Given the description of an element on the screen output the (x, y) to click on. 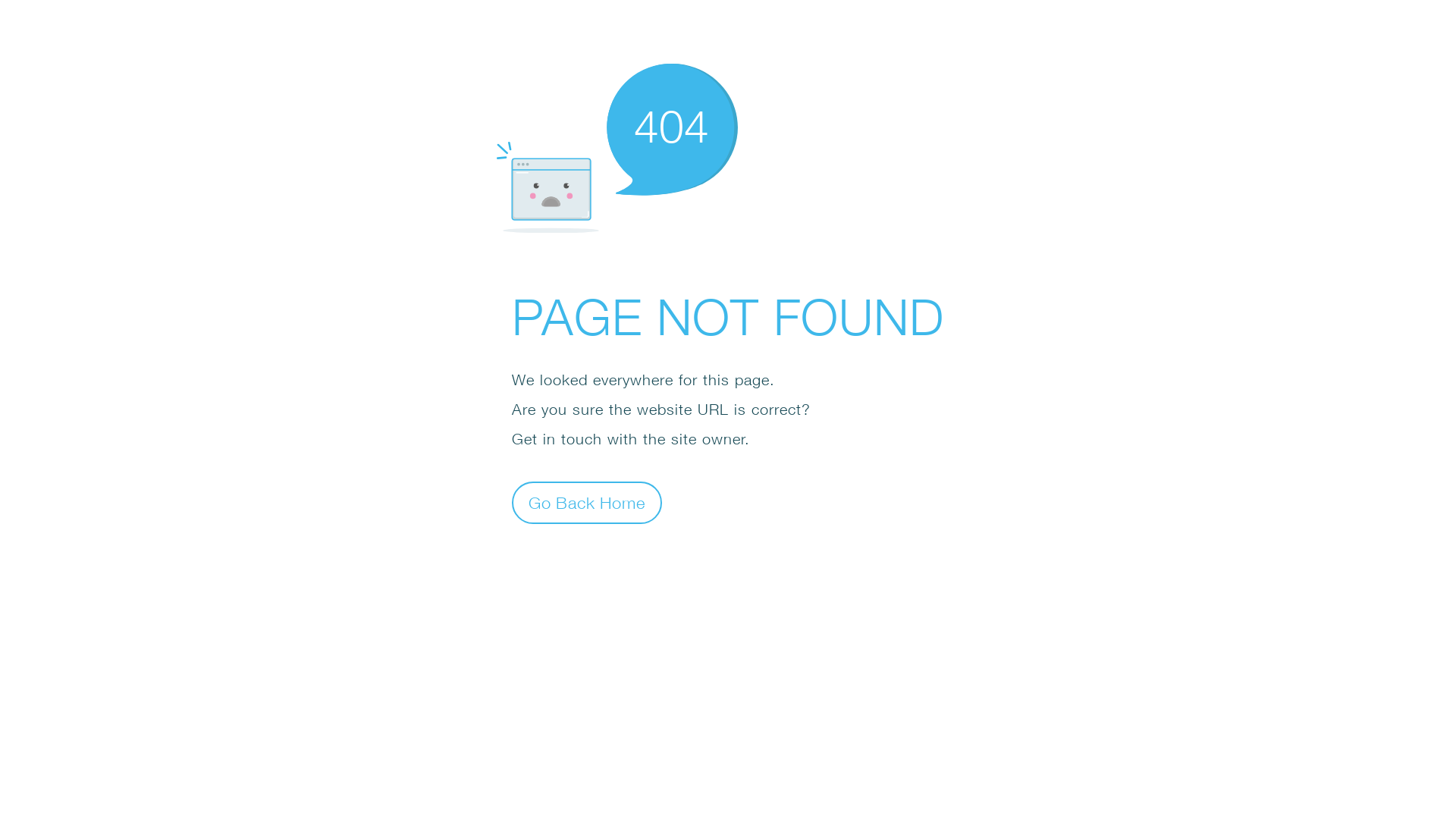
Go Back Home Element type: text (586, 502)
